Given the description of an element on the screen output the (x, y) to click on. 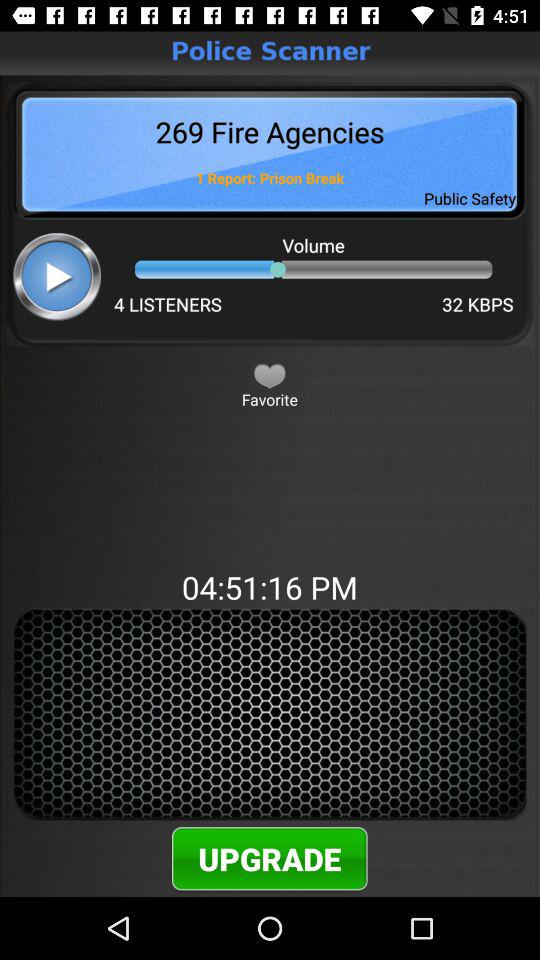
turn off icon below the 269 fire agencies item (56, 276)
